Given the description of an element on the screen output the (x, y) to click on. 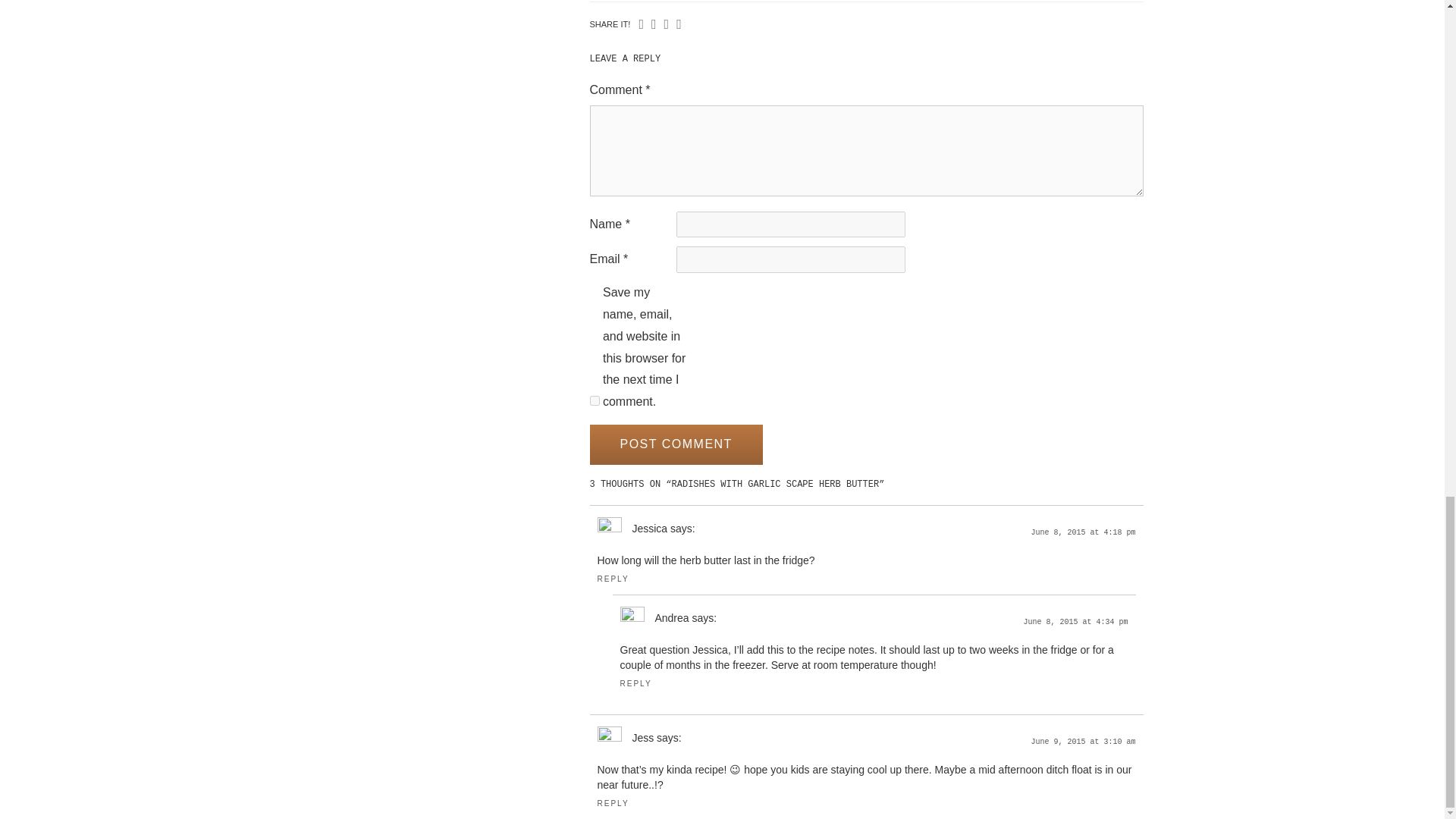
June 8, 2015 at 4:18 pm (1082, 532)
REPLY (612, 803)
Post Comment (675, 445)
REPLY (612, 578)
REPLY (636, 683)
June 8, 2015 at 4:34 pm (1074, 622)
yes (594, 400)
June 9, 2015 at 3:10 am (1082, 741)
Post Comment (675, 445)
